Given the description of an element on the screen output the (x, y) to click on. 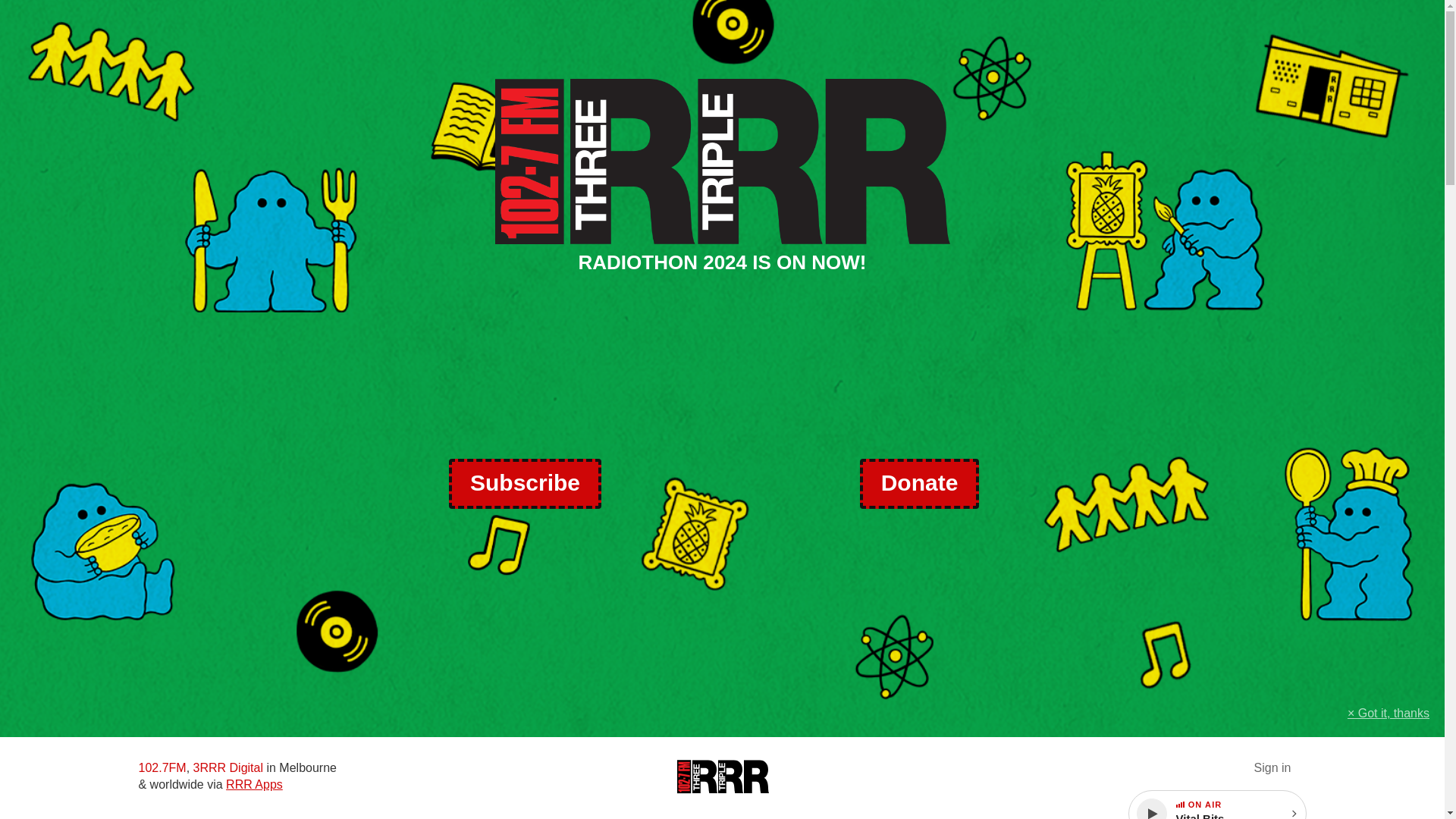
Triple R logo (722, 776)
Subscribe (524, 483)
Donate (919, 483)
RRR Apps (253, 784)
Sign in (1272, 767)
ANIMATED AUDIO BARS (1179, 804)
